Given the description of an element on the screen output the (x, y) to click on. 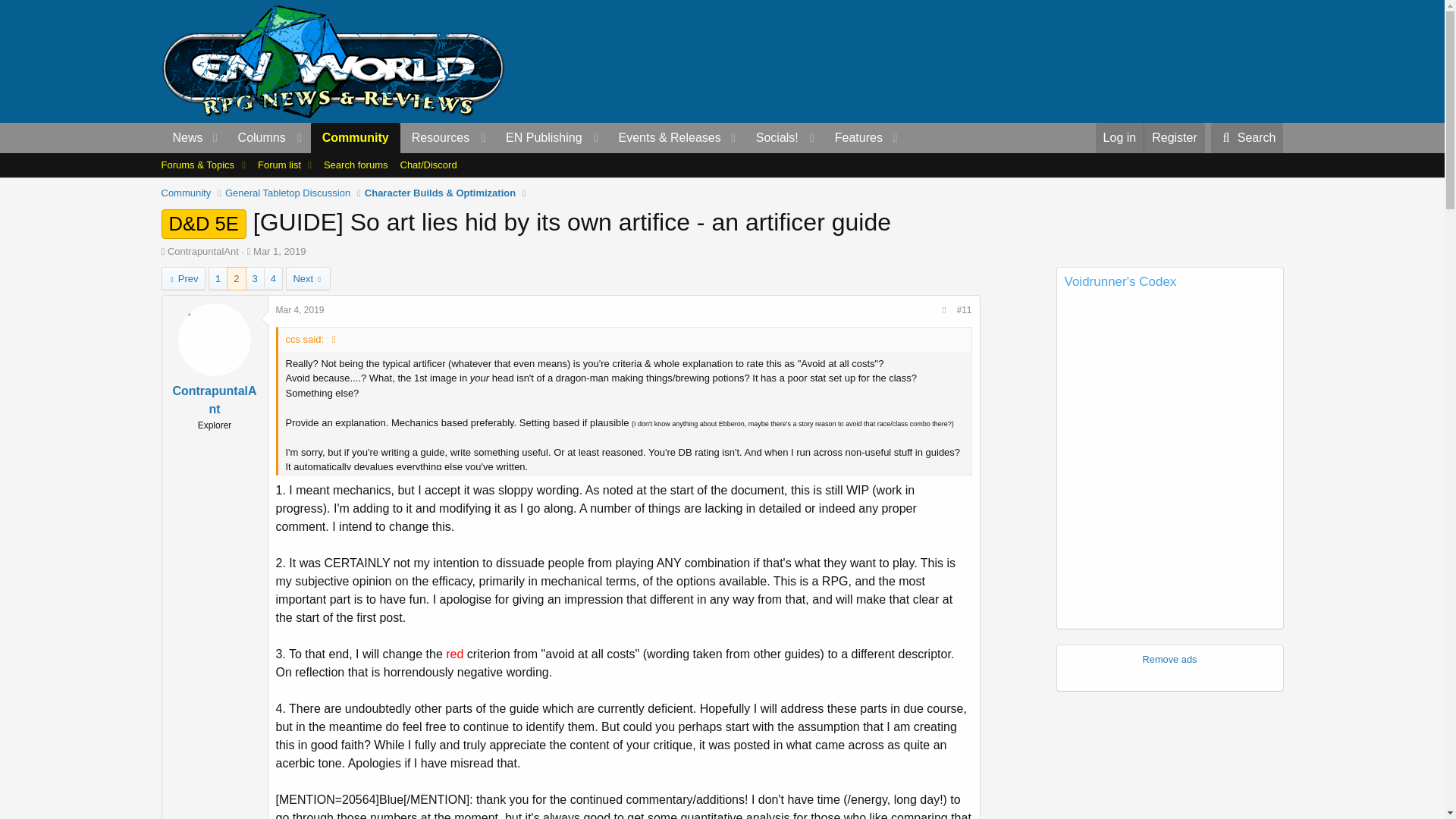
Search (1247, 137)
Mar 4, 2019 at 9:15 PM (300, 309)
Community (355, 137)
Mar 1, 2019 at 8:45 PM (279, 251)
Columns (269, 137)
News (181, 137)
